Given the description of an element on the screen output the (x, y) to click on. 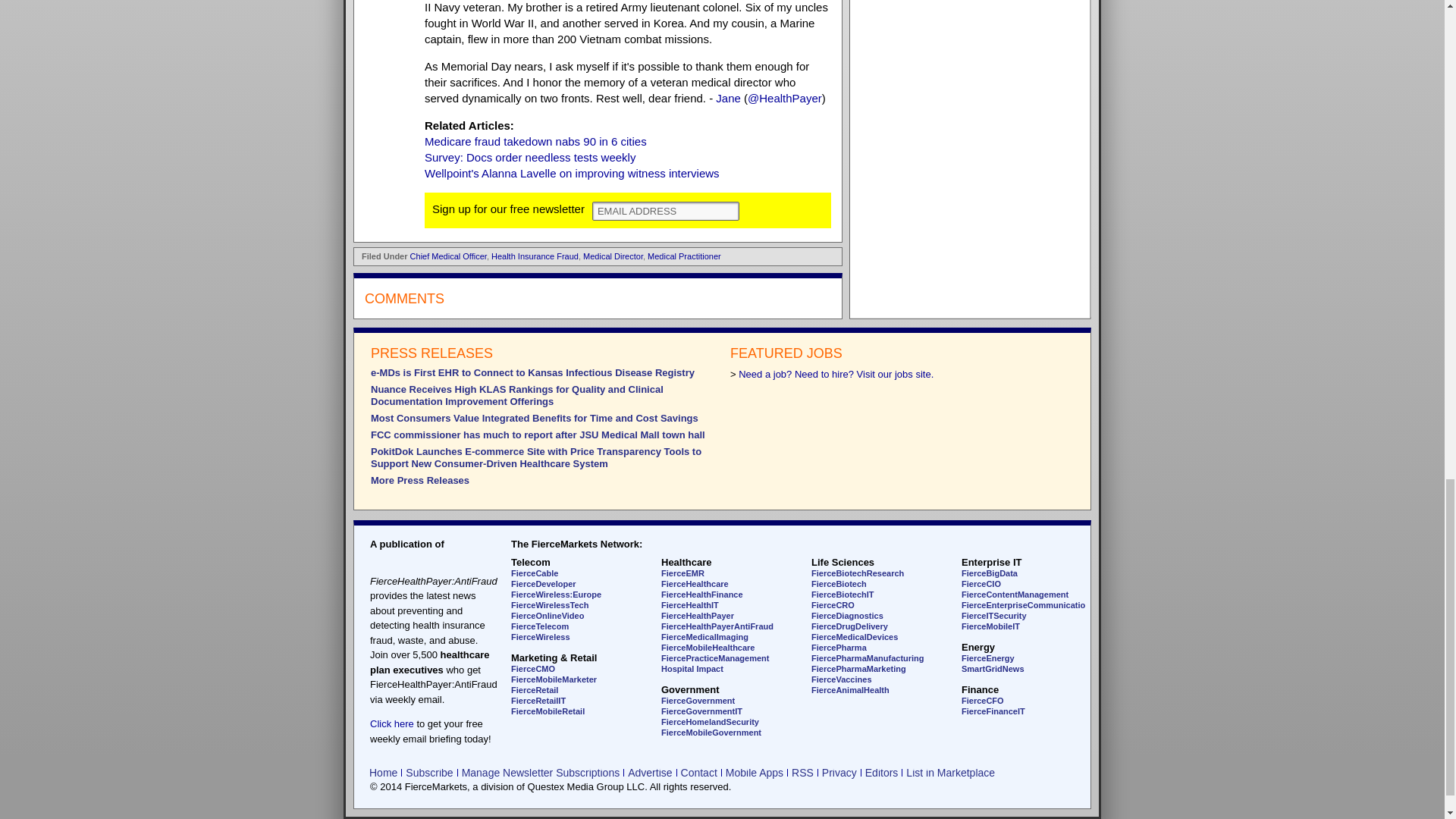
EMAIL ADDRESS (665, 210)
EMAIL ADDRESS (665, 210)
SIGN ME UP (779, 209)
SIGN ME UP (779, 209)
